Given the description of an element on the screen output the (x, y) to click on. 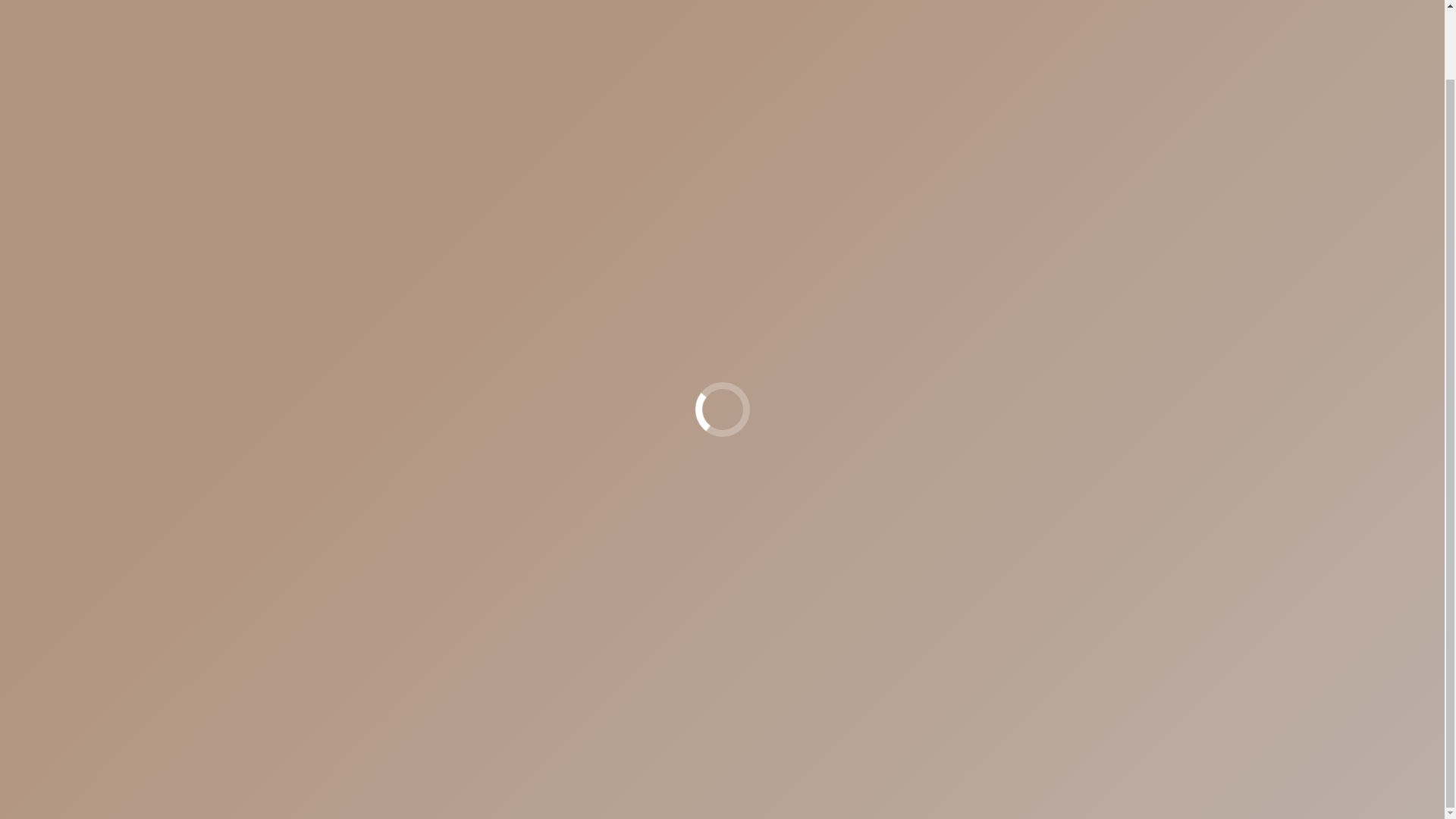
Agenda (932, 476)
Catch Up (1056, 476)
Speakers (992, 476)
Main Stage (867, 476)
